Given the description of an element on the screen output the (x, y) to click on. 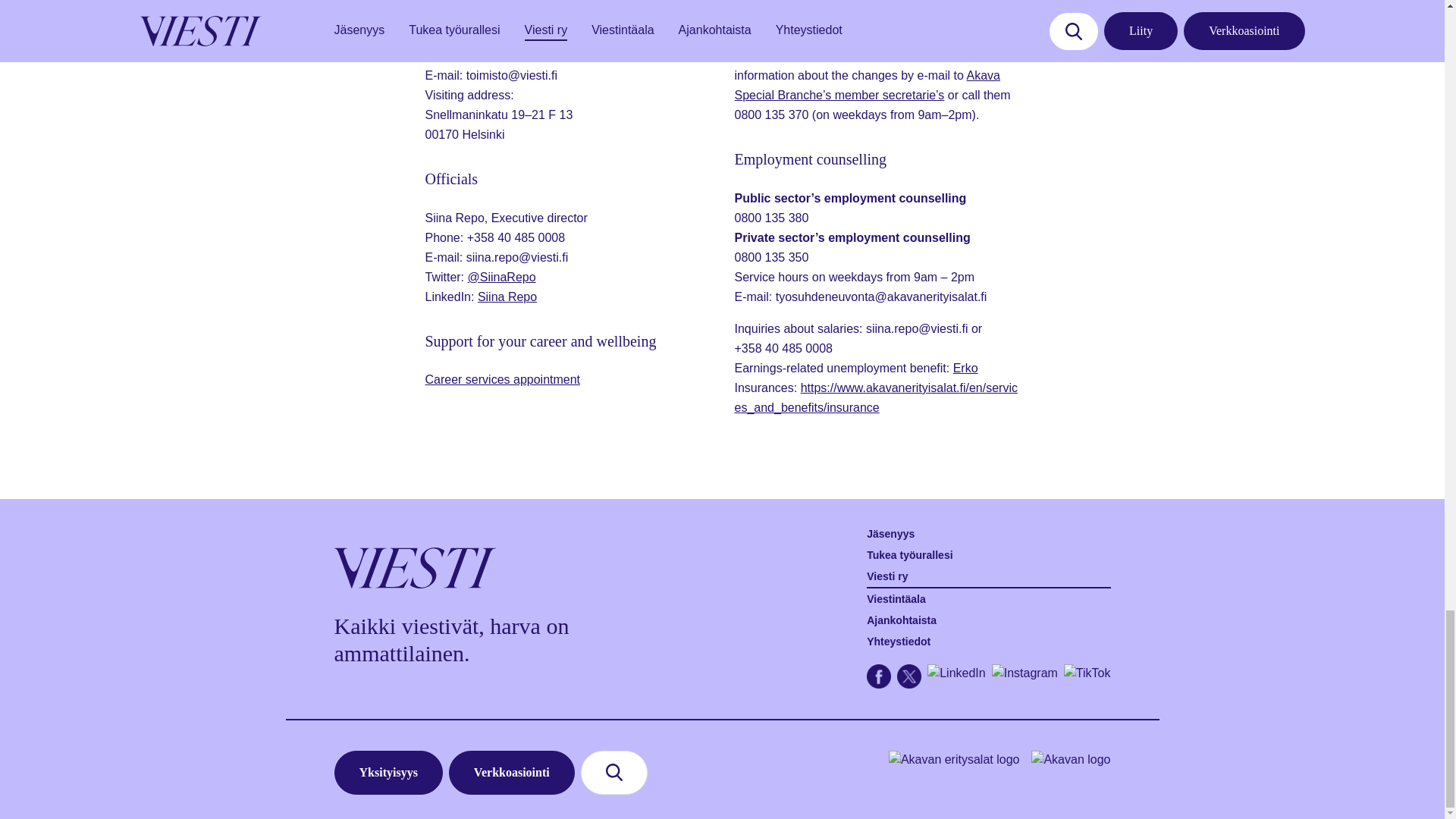
Siina Repo (507, 296)
Career services appointment (502, 379)
online service.  (820, 55)
